Given the description of an element on the screen output the (x, y) to click on. 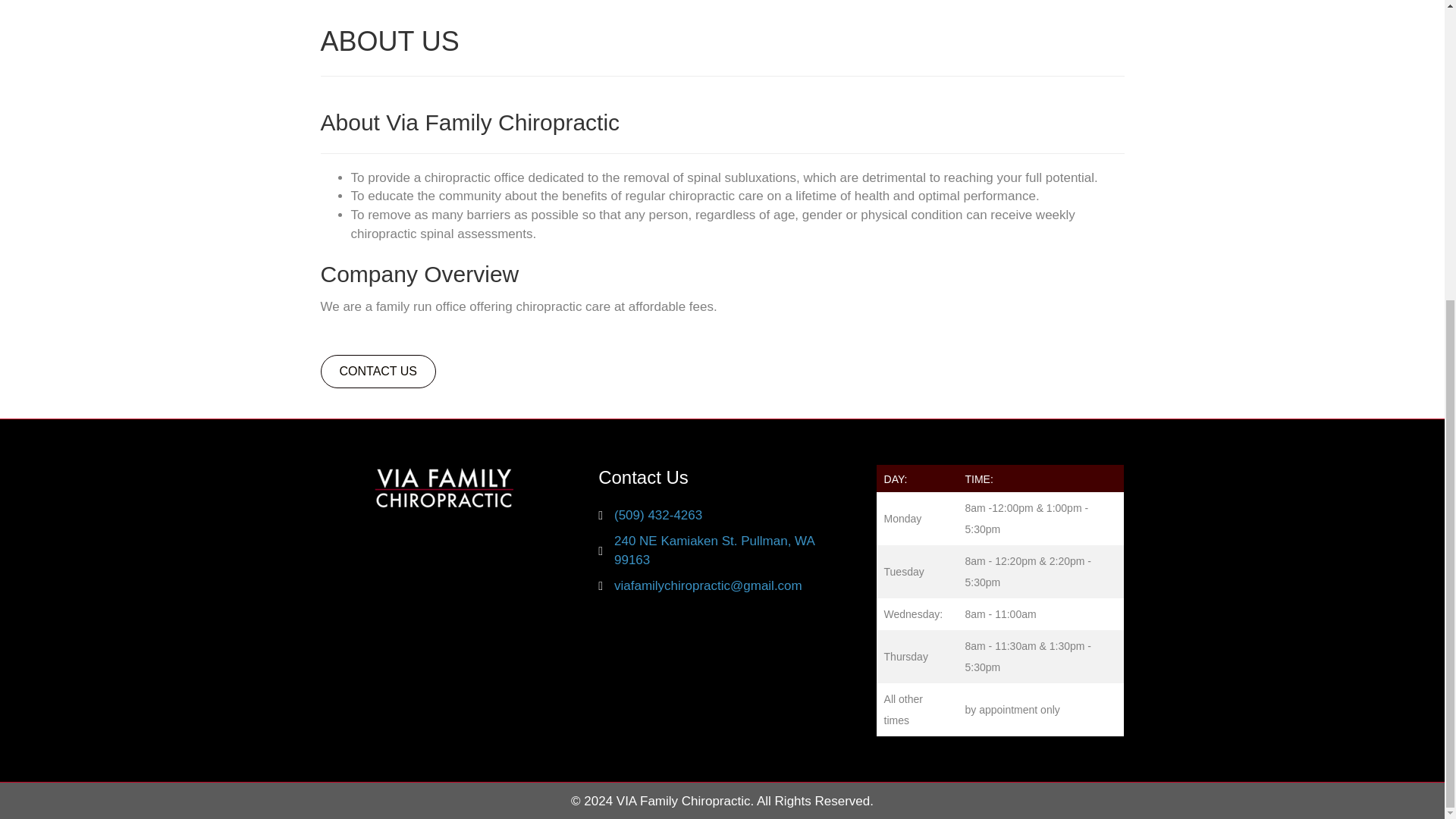
ViaLogoClearSized (443, 487)
CONTACT US (377, 371)
240 NE Kamiaken St. Pullman, WA 99163 (729, 550)
